Given the description of an element on the screen output the (x, y) to click on. 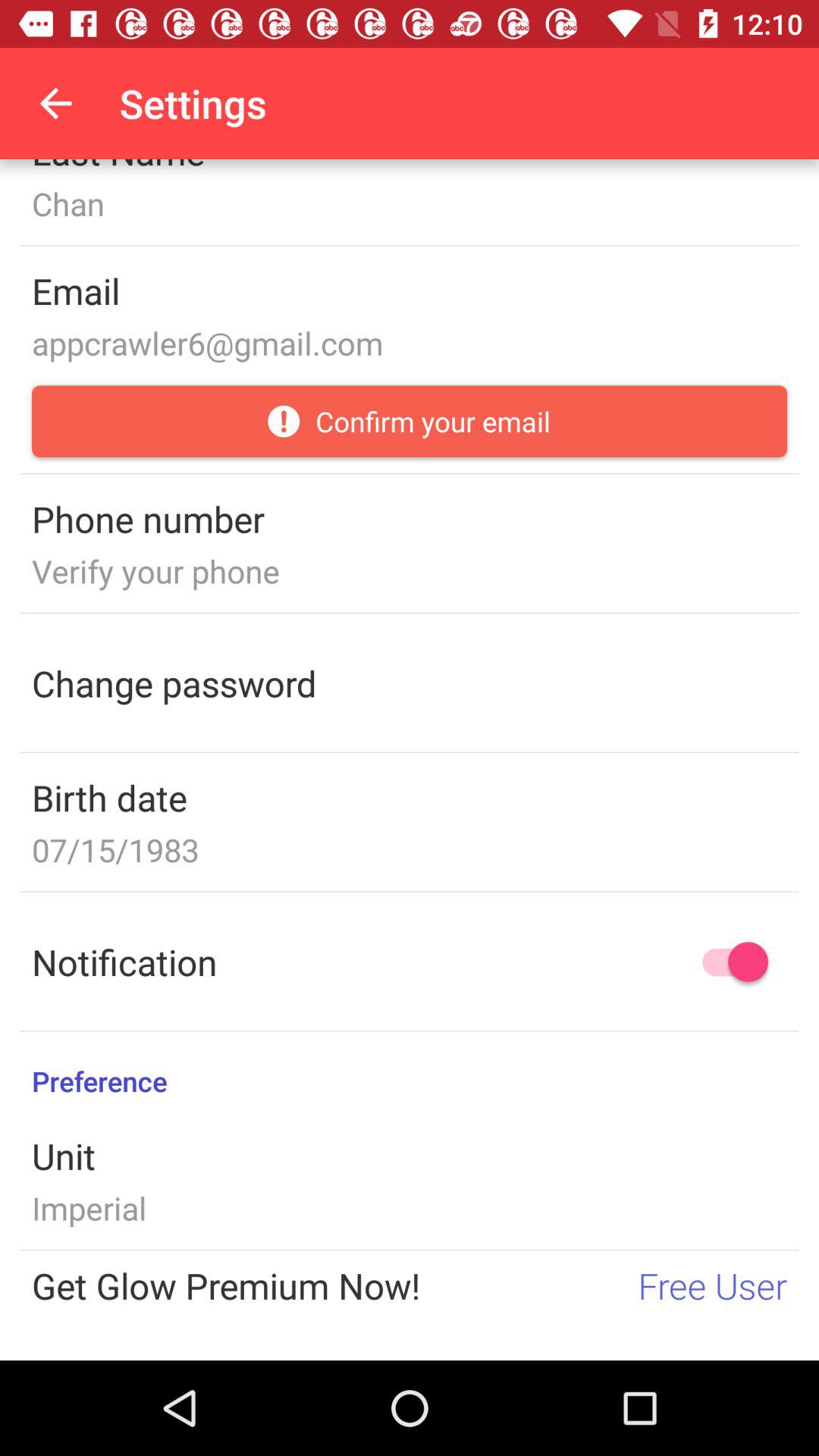
scroll until get glow premium icon (225, 1285)
